Given the description of an element on the screen output the (x, y) to click on. 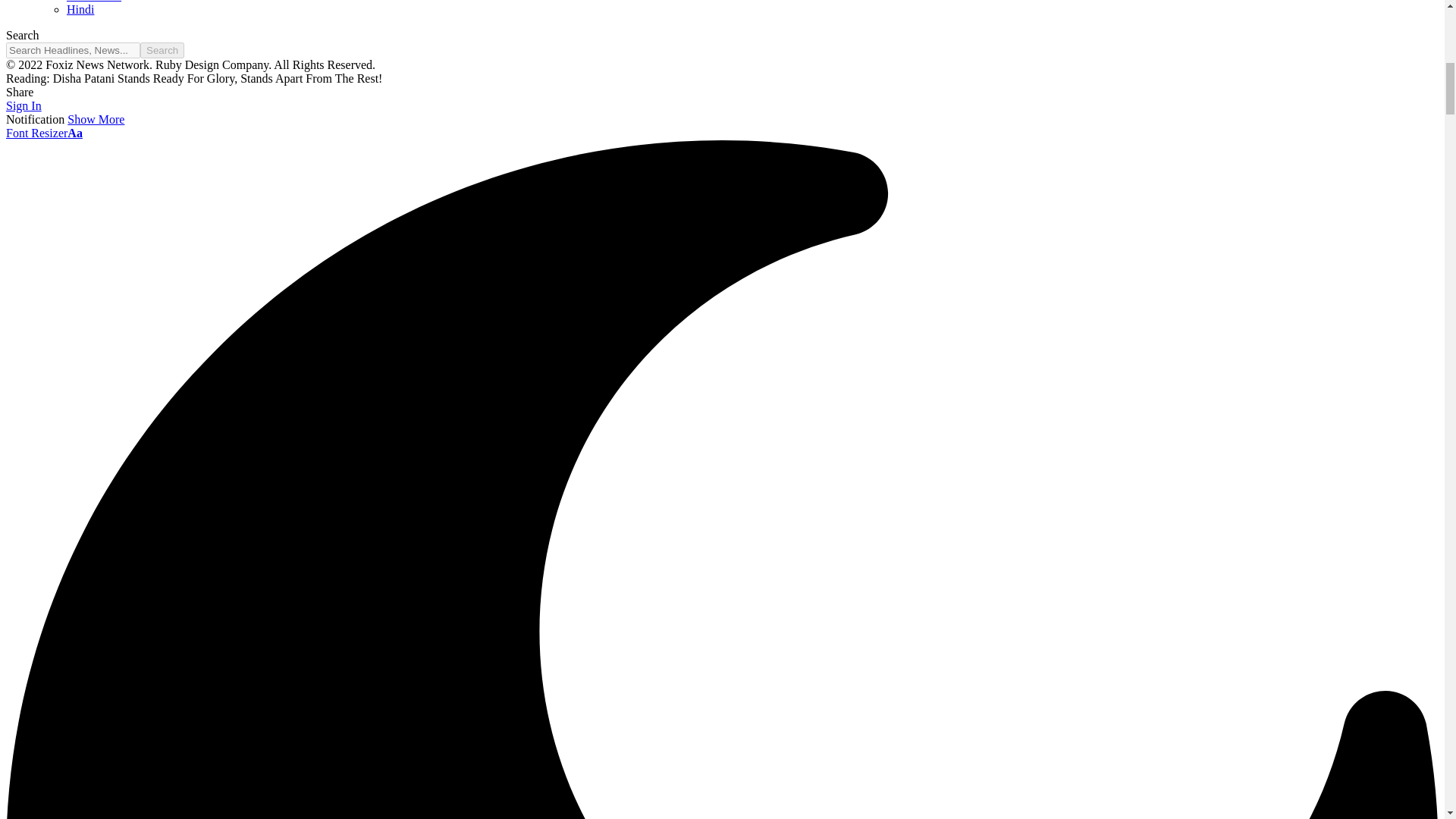
Hindi (80, 9)
Search (161, 50)
Font ResizerAa (43, 132)
Show More (94, 119)
Web Series (93, 1)
Search (161, 50)
Sign In (23, 105)
